Given the description of an element on the screen output the (x, y) to click on. 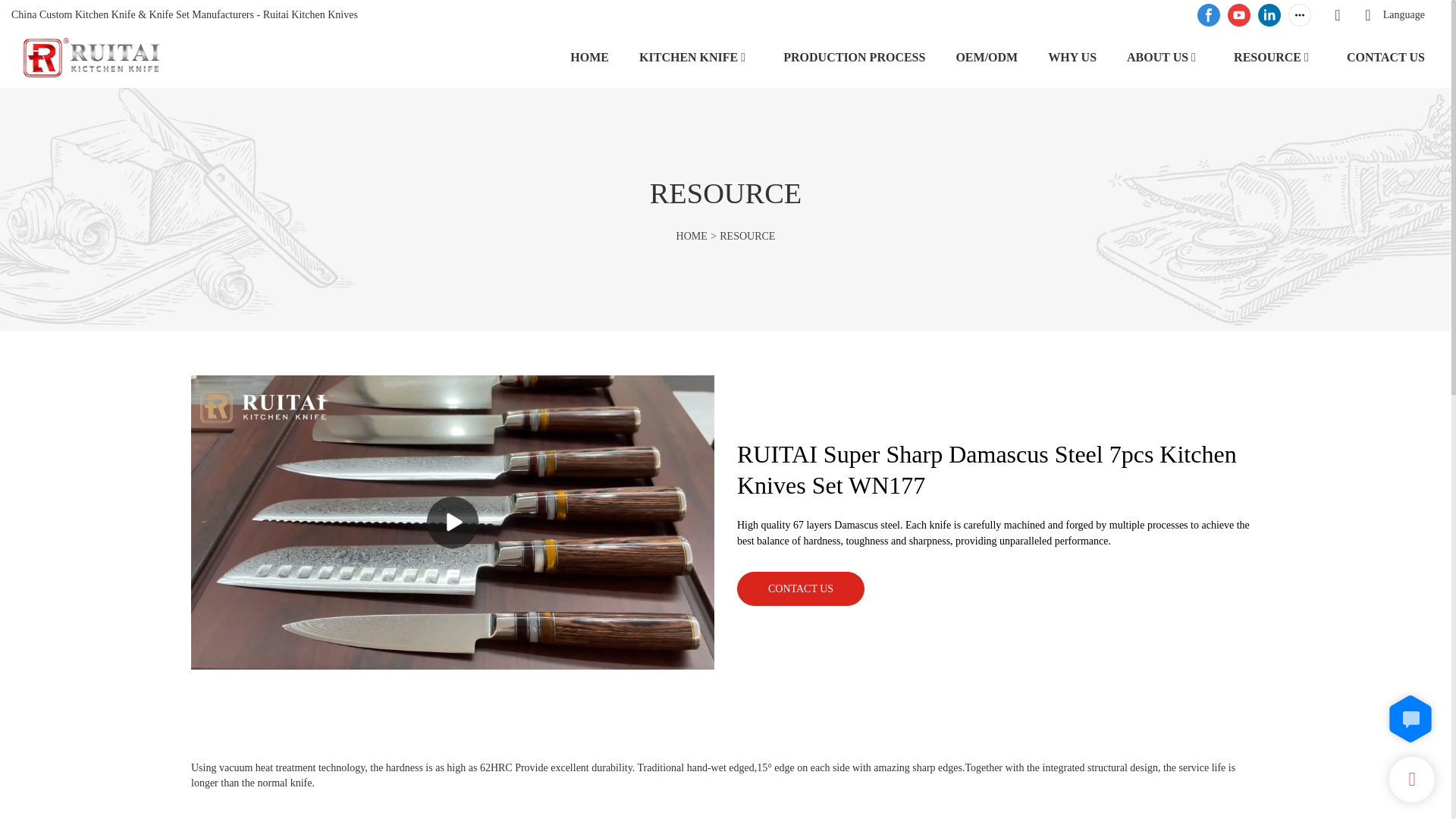
linkedin (1268, 15)
WHY US (1072, 56)
youtube (1238, 15)
HOME (589, 56)
KITCHEN KNIFE (688, 56)
CONTACT US (1385, 56)
facebook (1208, 15)
ABOUT US (1157, 56)
RESOURCE (1267, 56)
HOME (692, 235)
PRODUCTION PROCESS (853, 56)
